Given the description of an element on the screen output the (x, y) to click on. 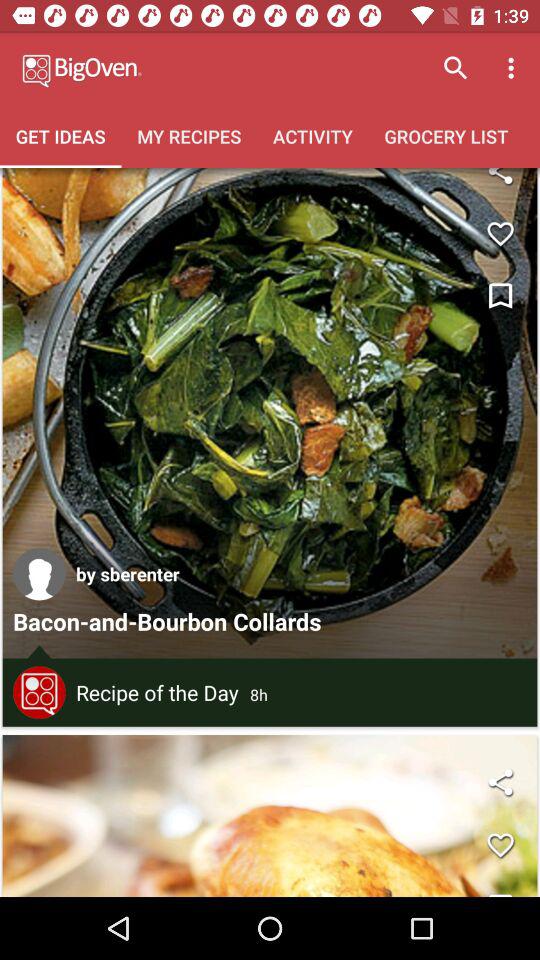
click to see a recipe (269, 413)
